Given the description of an element on the screen output the (x, y) to click on. 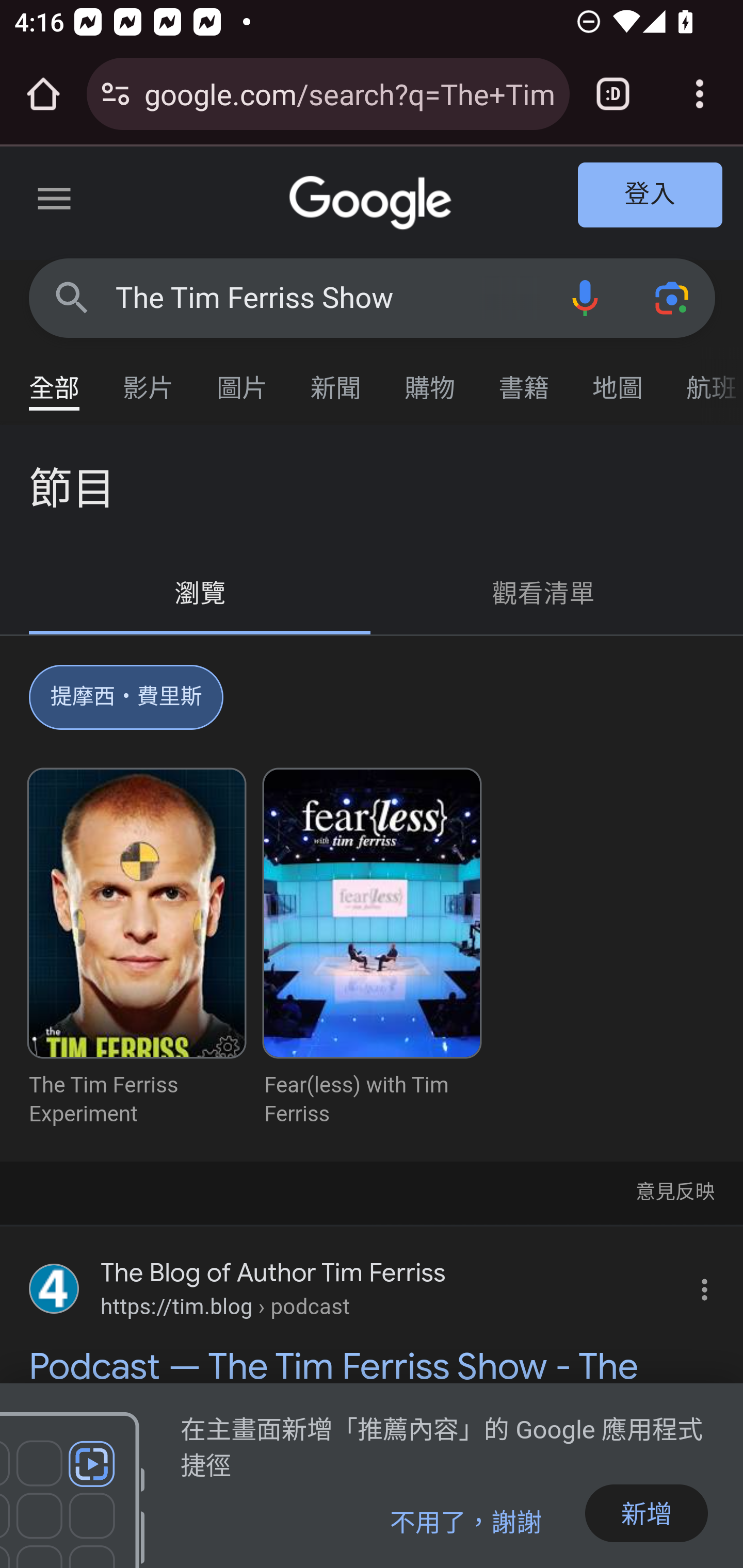
Open the home page (43, 93)
Connection is secure (115, 93)
Switch or close tabs (612, 93)
Customize and control Google Chrome (699, 93)
主選單 (54, 202)
Google (372, 203)
登入 (650, 195)
Google 搜尋 (71, 296)
使用相機或相片搜尋 (672, 296)
The Tim Ferriss Show (328, 297)
影片 (148, 378)
圖片 (242, 378)
新聞 (336, 378)
購物 (430, 378)
書籍 (524, 378)
地圖 (618, 378)
航班 (703, 378)
瀏覽 (200, 594)
觀看清單 (544, 594)
提摩西・費里斯 (126, 701)
The Tim Ferriss Experiment (136, 949)
Fear(less) with Tim Ferriss (371, 949)
意見反映 (673, 1189)
